Given the description of an element on the screen output the (x, y) to click on. 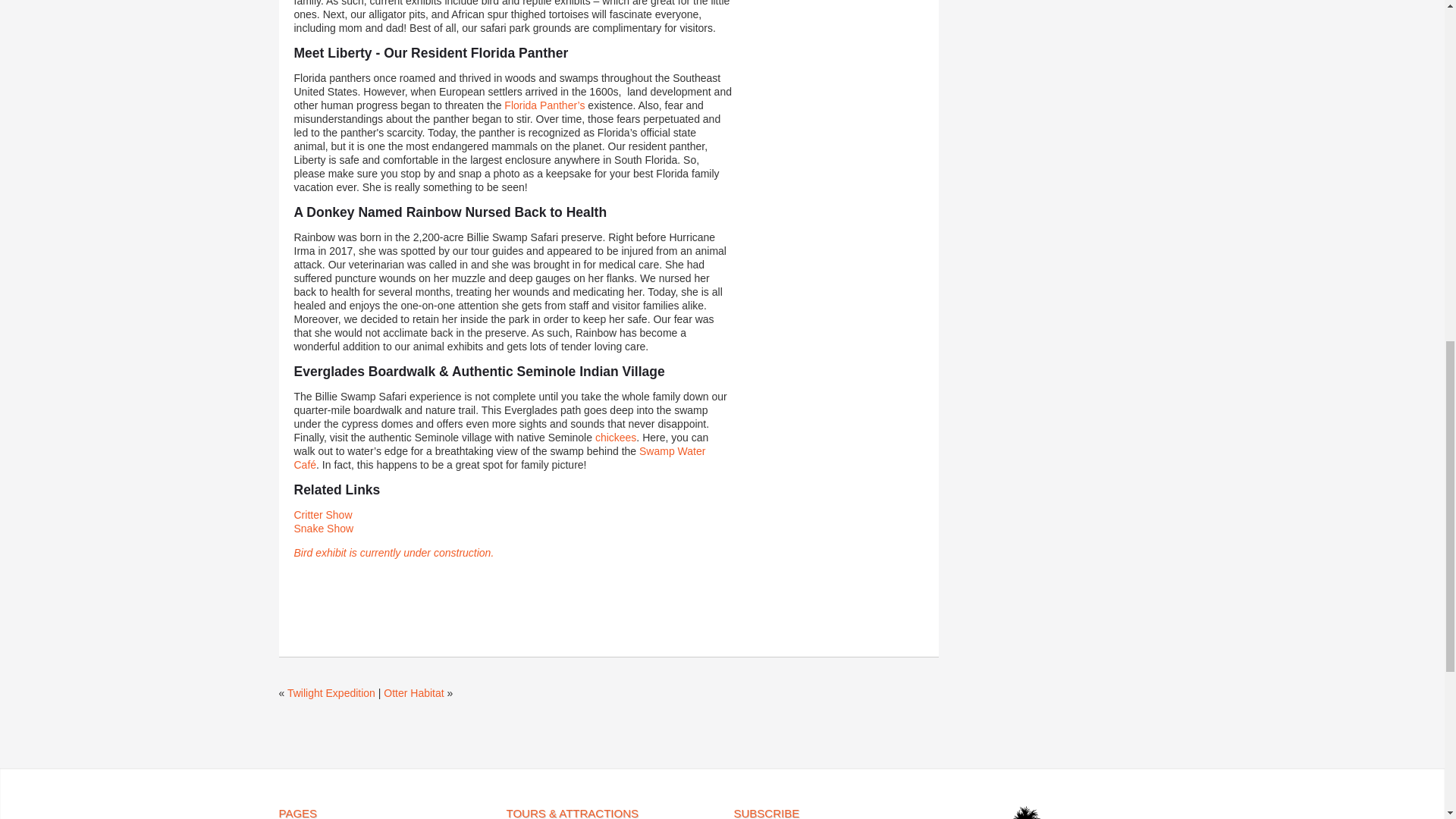
Critter Show (323, 514)
chickees (615, 437)
Snake Show (323, 528)
Otter Habitat (414, 693)
Twilight Expedition (330, 693)
